Given the description of an element on the screen output the (x, y) to click on. 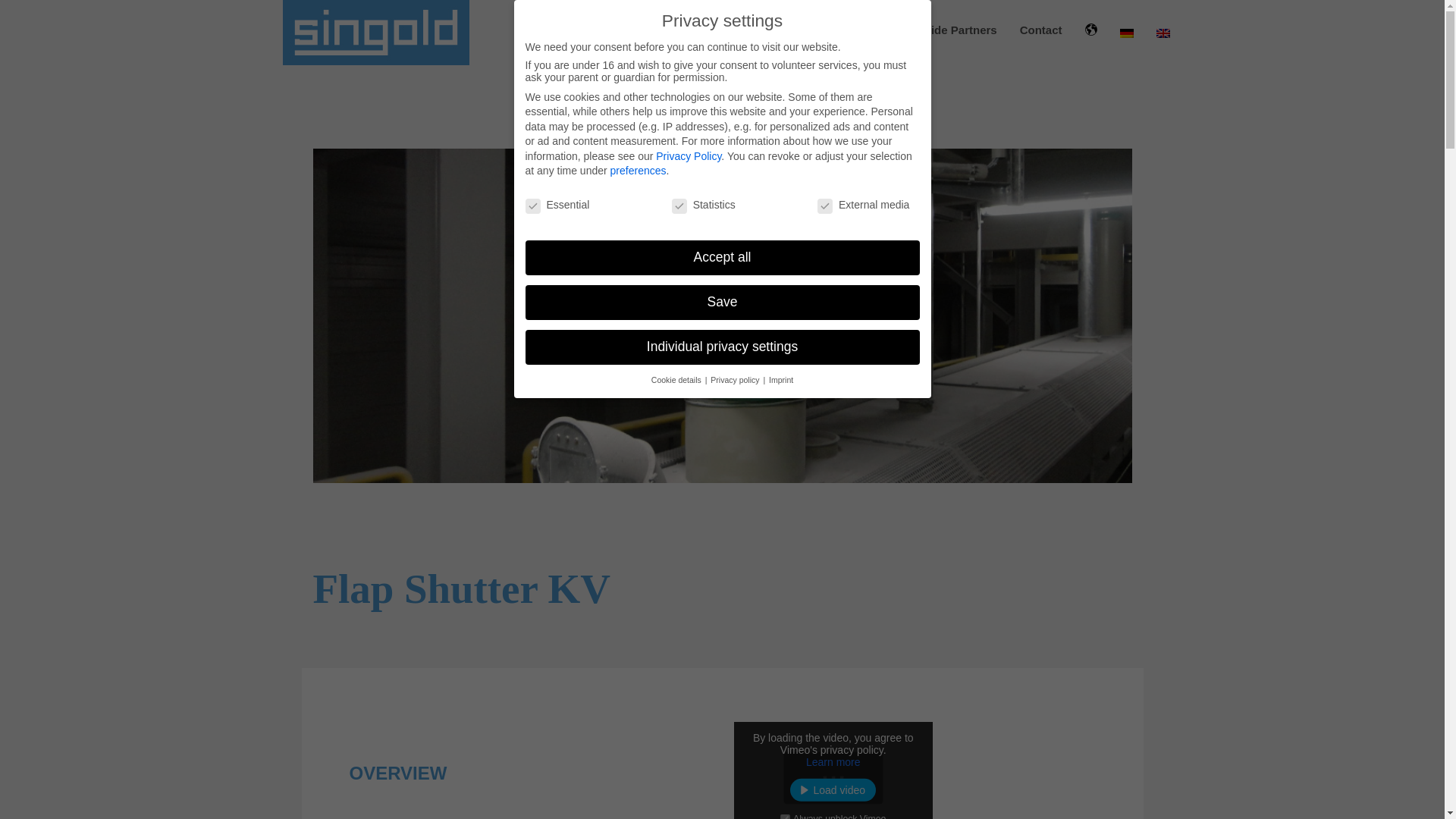
singold-header-flap-shutter-new (156, 315)
Load video (833, 789)
Products (605, 30)
News (745, 30)
Company (682, 30)
1 (785, 816)
Learn more (833, 761)
Intl. Downloads (825, 30)
Worldwide Partners (944, 30)
Contact (1041, 30)
